Given the description of an element on the screen output the (x, y) to click on. 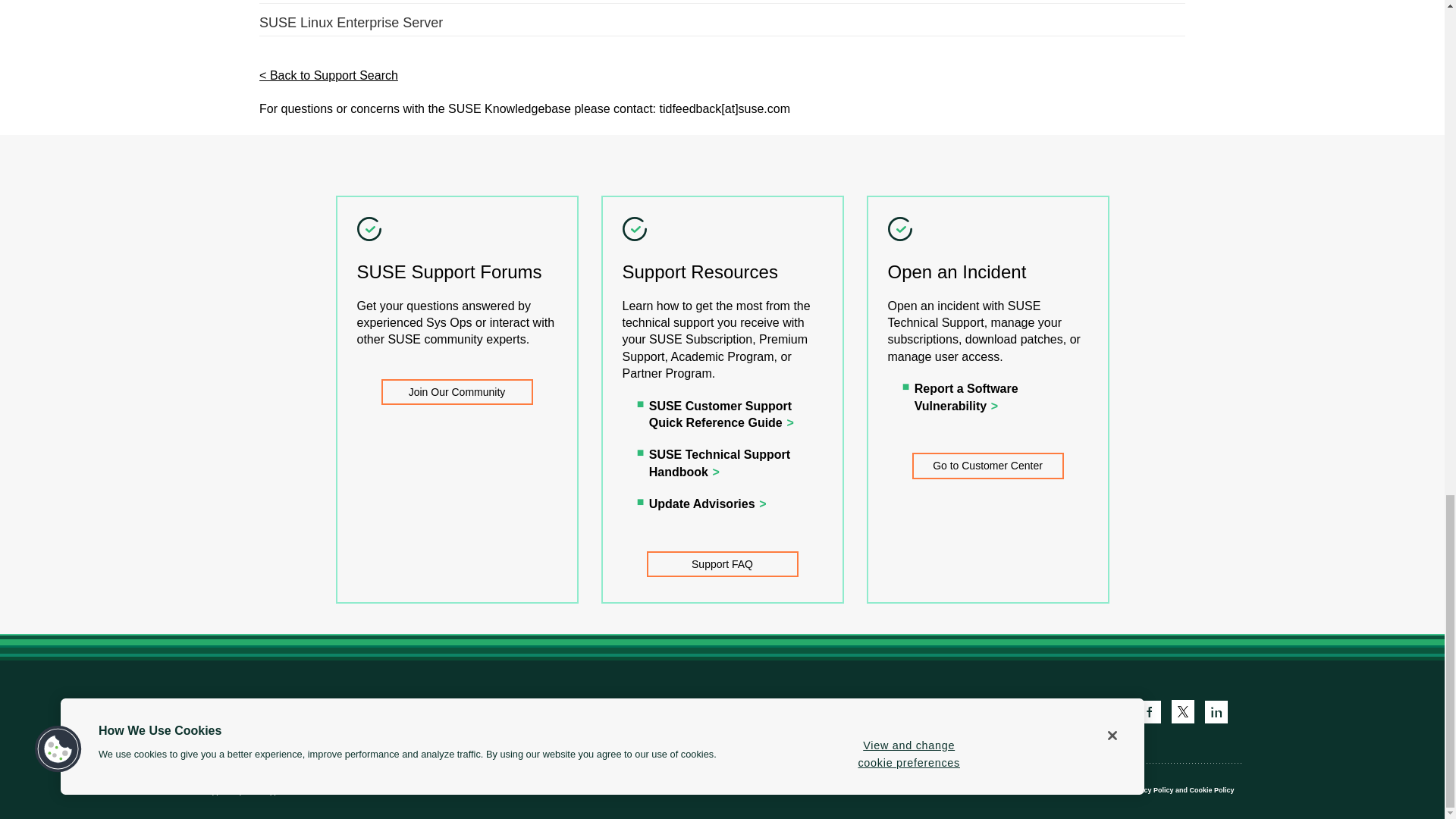
Careers (351, 710)
